Given the description of an element on the screen output the (x, y) to click on. 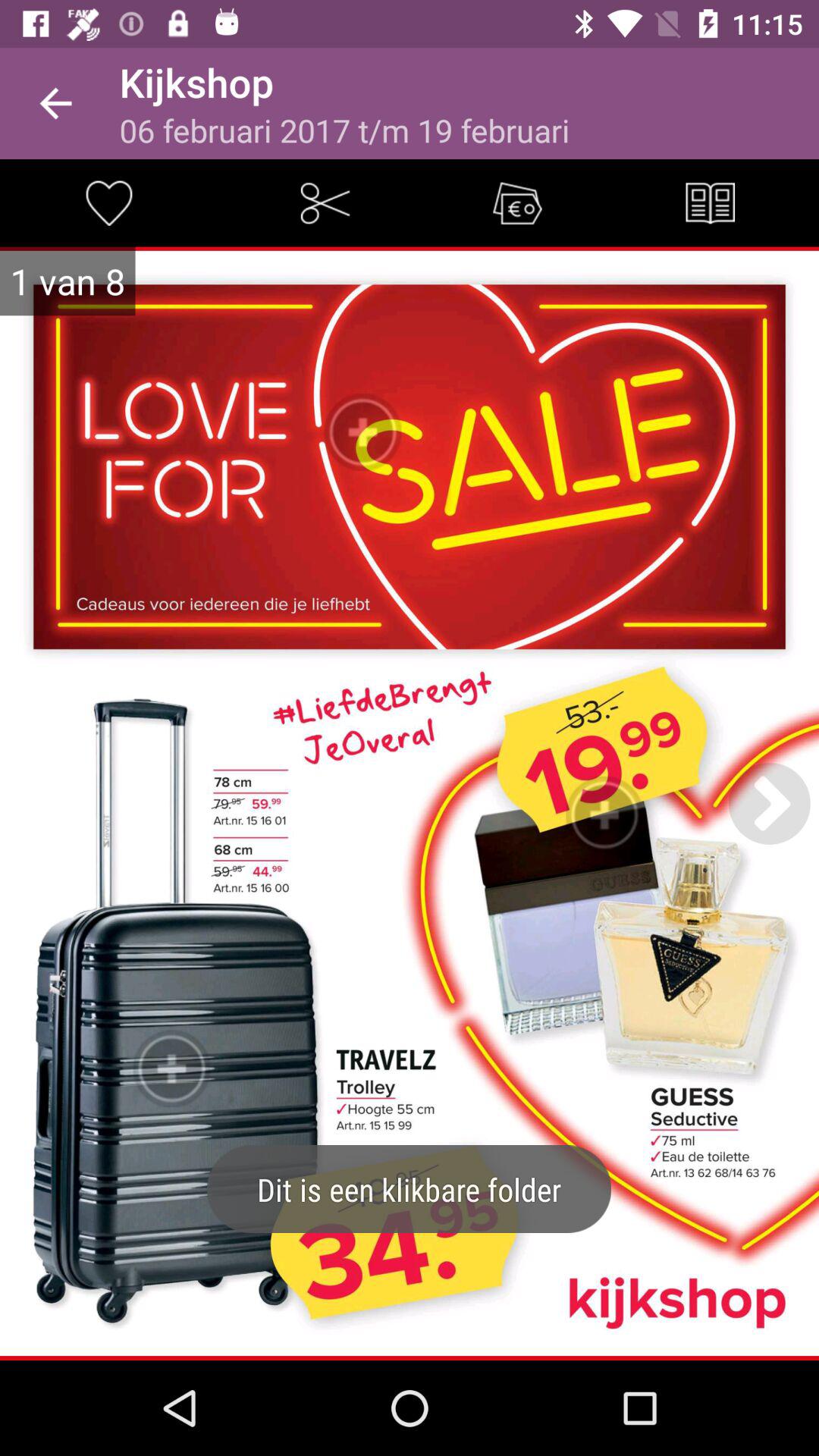
change page view (710, 202)
